Given the description of an element on the screen output the (x, y) to click on. 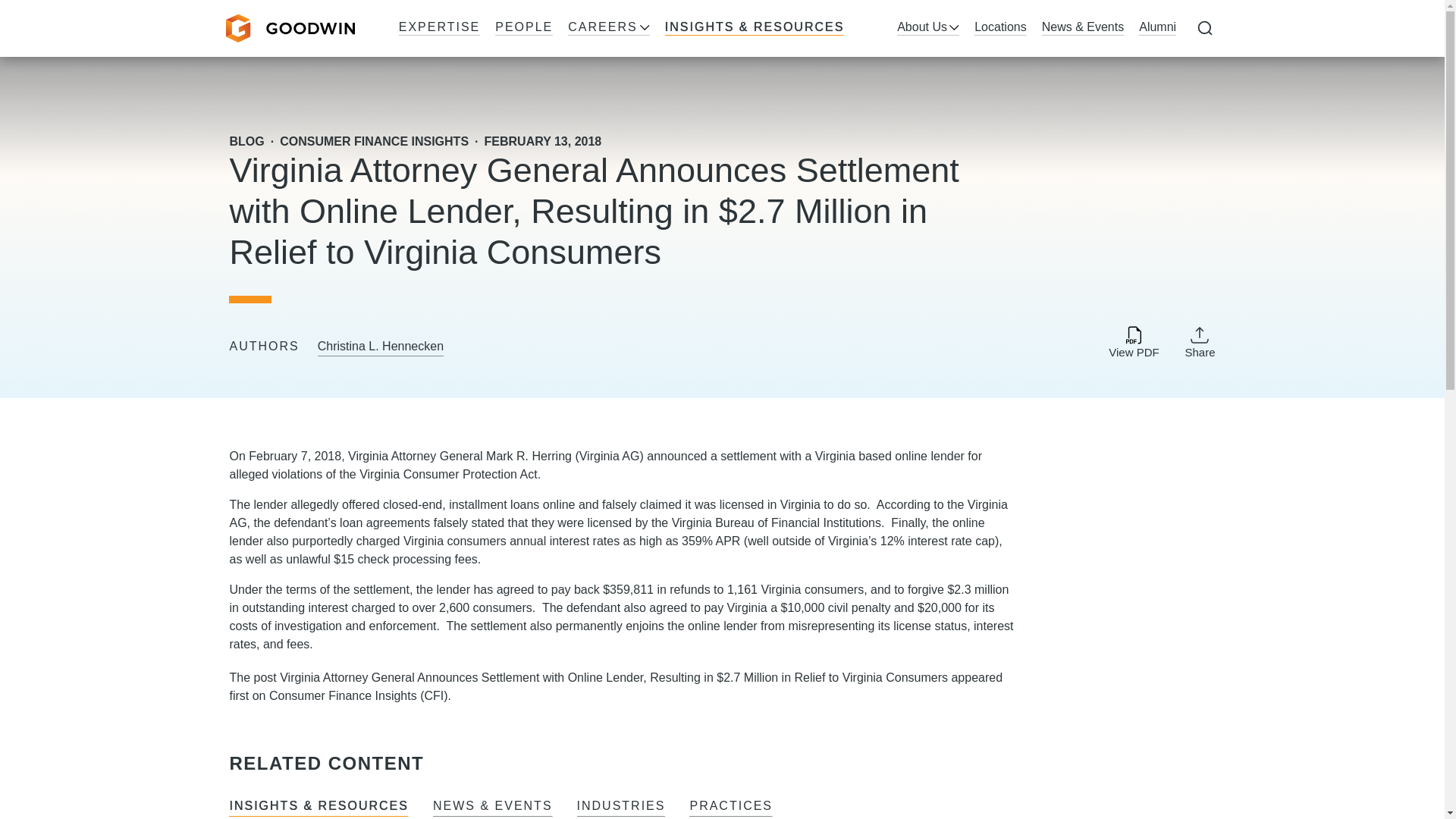
announced (676, 455)
Share (1199, 341)
Alumni (1157, 28)
EXPERTISE (439, 28)
INDUSTRIES (620, 807)
About Us (927, 28)
PEOPLE (524, 28)
Goodwin (290, 28)
Christina L. Hennecken (380, 347)
Locations (1000, 28)
